Given the description of an element on the screen output the (x, y) to click on. 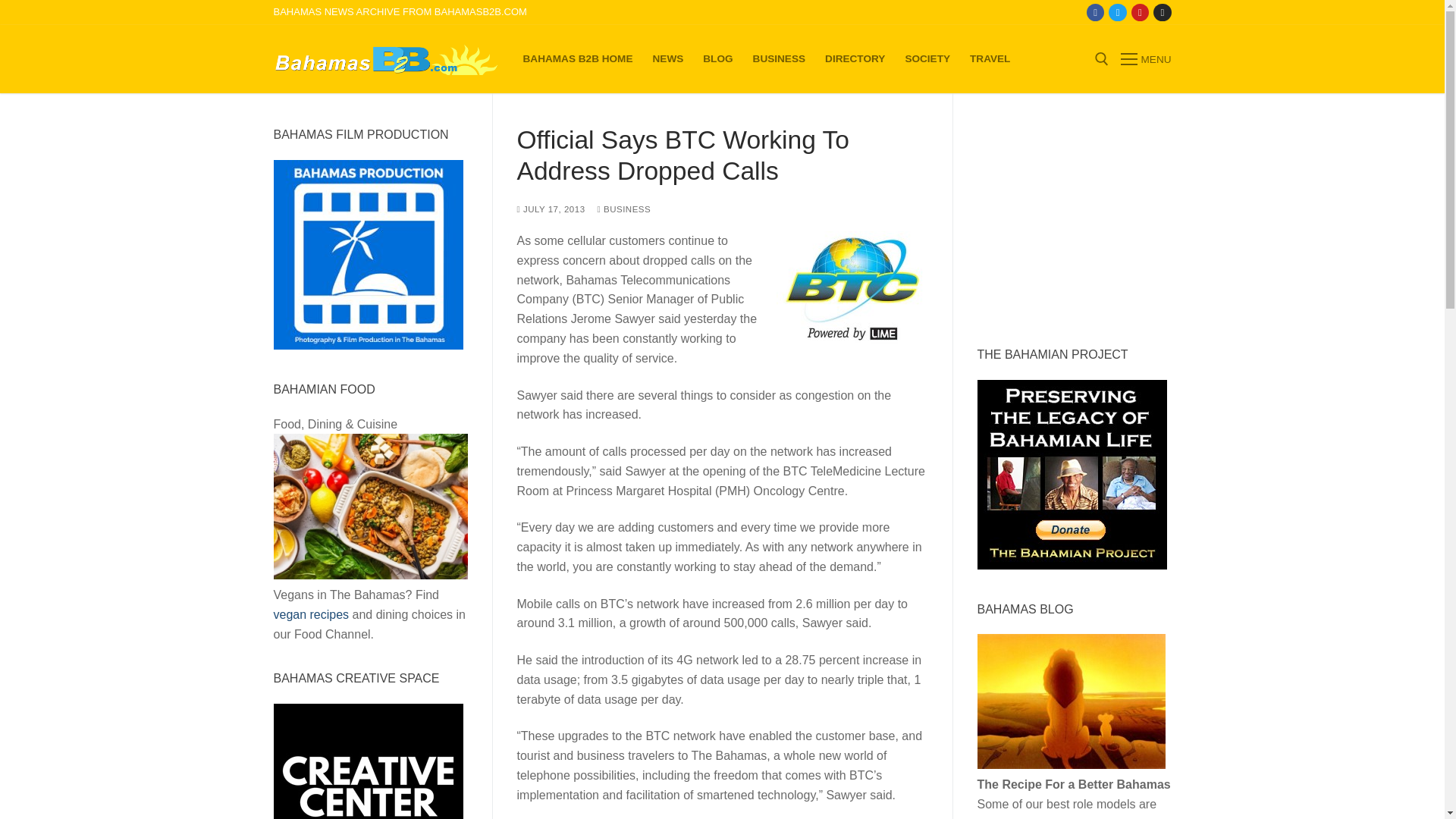
BLOG (717, 59)
TRAVEL (989, 59)
Facebook (1095, 12)
SOCIETY (927, 59)
DIRECTORY (855, 59)
Youtube (1139, 12)
Instagram (1162, 12)
Twitter (1117, 12)
btc (852, 287)
BUSINESS (778, 59)
